Given the description of an element on the screen output the (x, y) to click on. 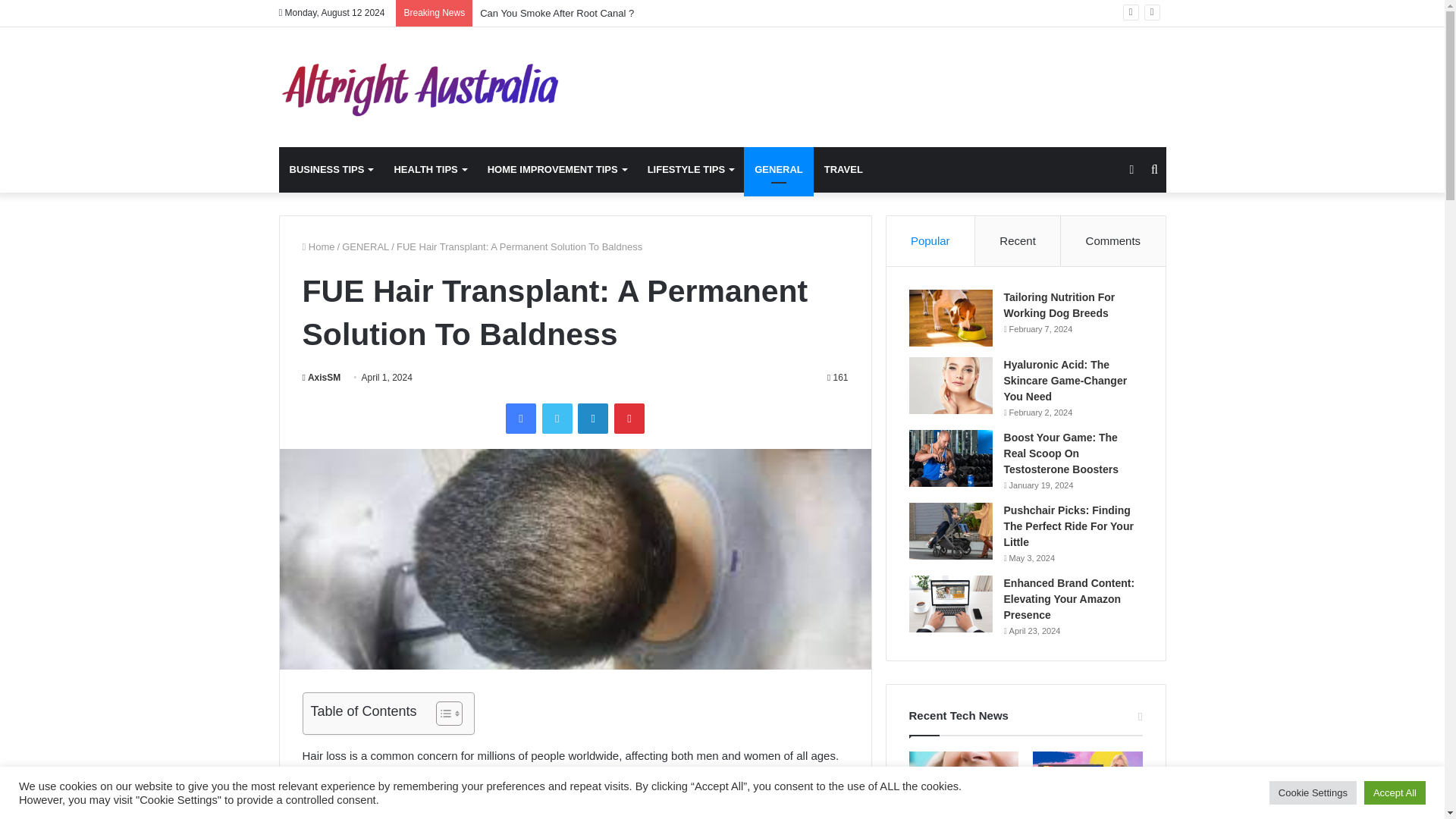
Twitter (556, 418)
Pinterest (629, 418)
AxisSM (320, 376)
altright australia (419, 87)
Home (317, 246)
Can You Smoke After Root Canal ? (556, 12)
HEALTH TIPS (429, 169)
BUSINESS TIPS (331, 169)
TRAVEL (843, 169)
LIFESTYLE TIPS (690, 169)
